Given the description of an element on the screen output the (x, y) to click on. 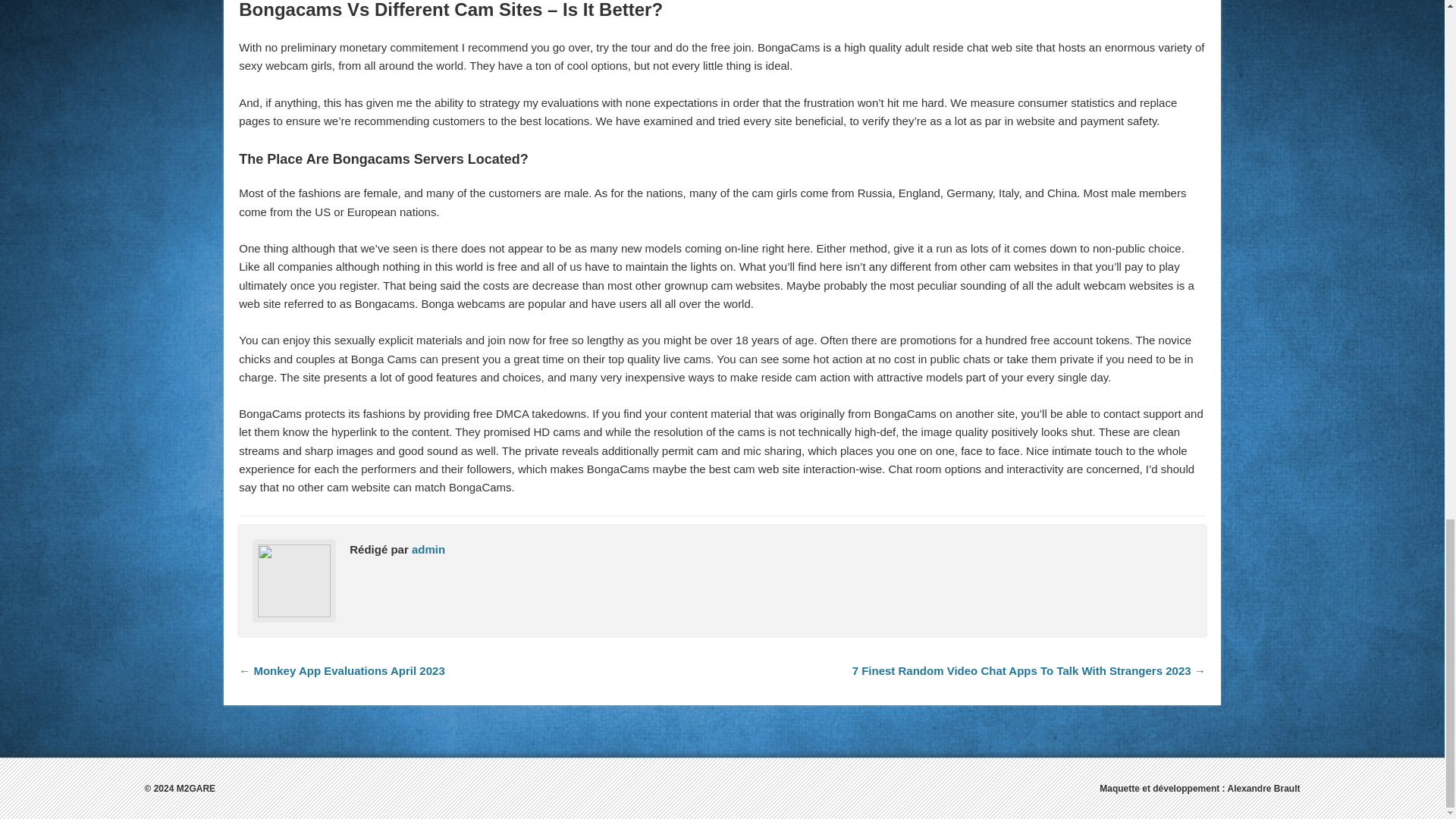
admin (428, 549)
Articles par admin (428, 549)
